Given the description of an element on the screen output the (x, y) to click on. 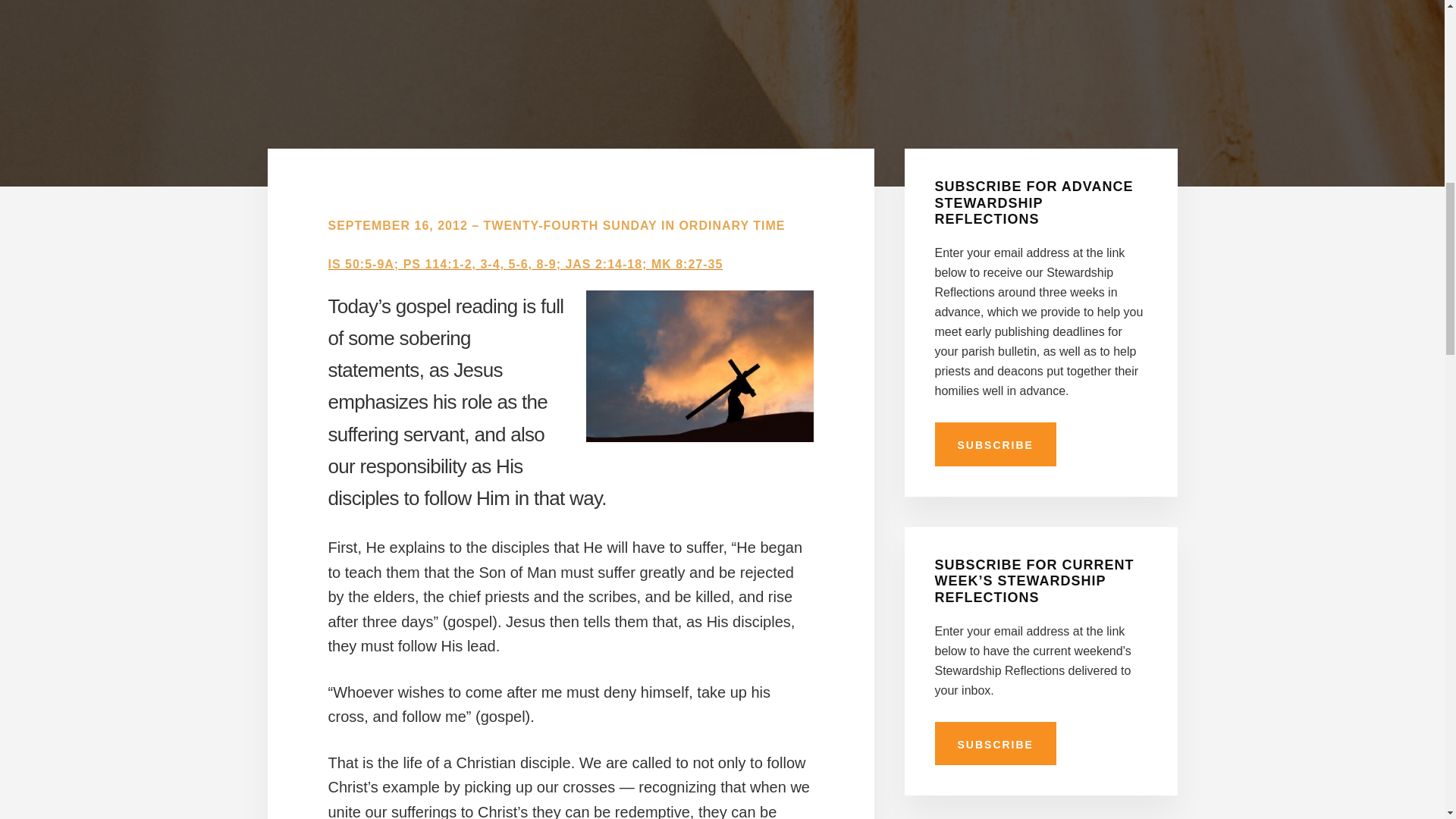
SUBSCRIBE (994, 743)
SUBSCRIBE (994, 444)
